Given the description of an element on the screen output the (x, y) to click on. 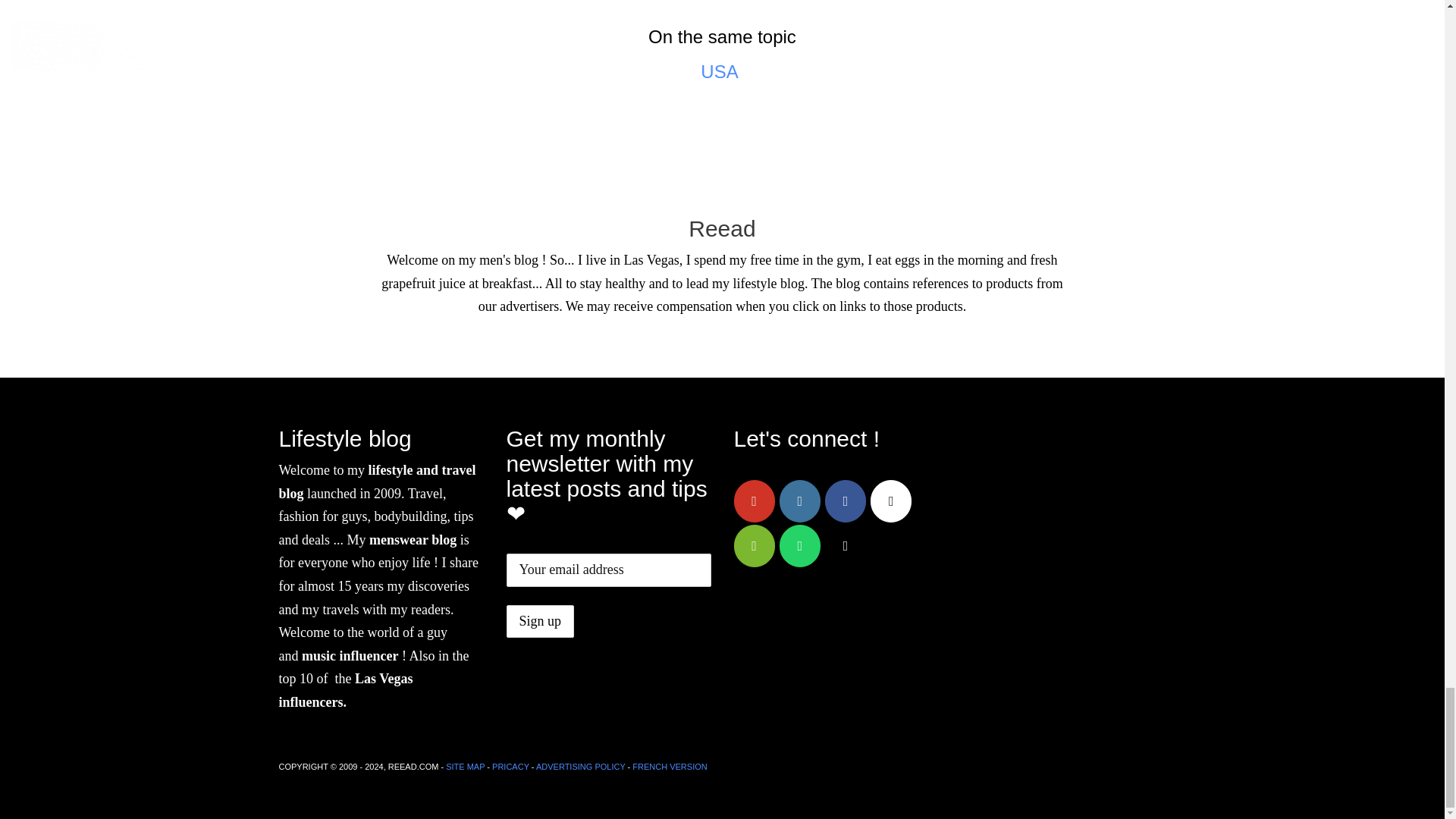
Reead's blog on Whatsapp (799, 545)
Reead's blog on X Twitter (890, 500)
Reead's blog on Youtube (753, 500)
Reead's blog on Instagram (799, 500)
Reead's blog on Spotify (753, 545)
Reead's blog on Facebook (845, 500)
Reead's blog on Tiktok (845, 545)
Sign up (540, 621)
